Given the description of an element on the screen output the (x, y) to click on. 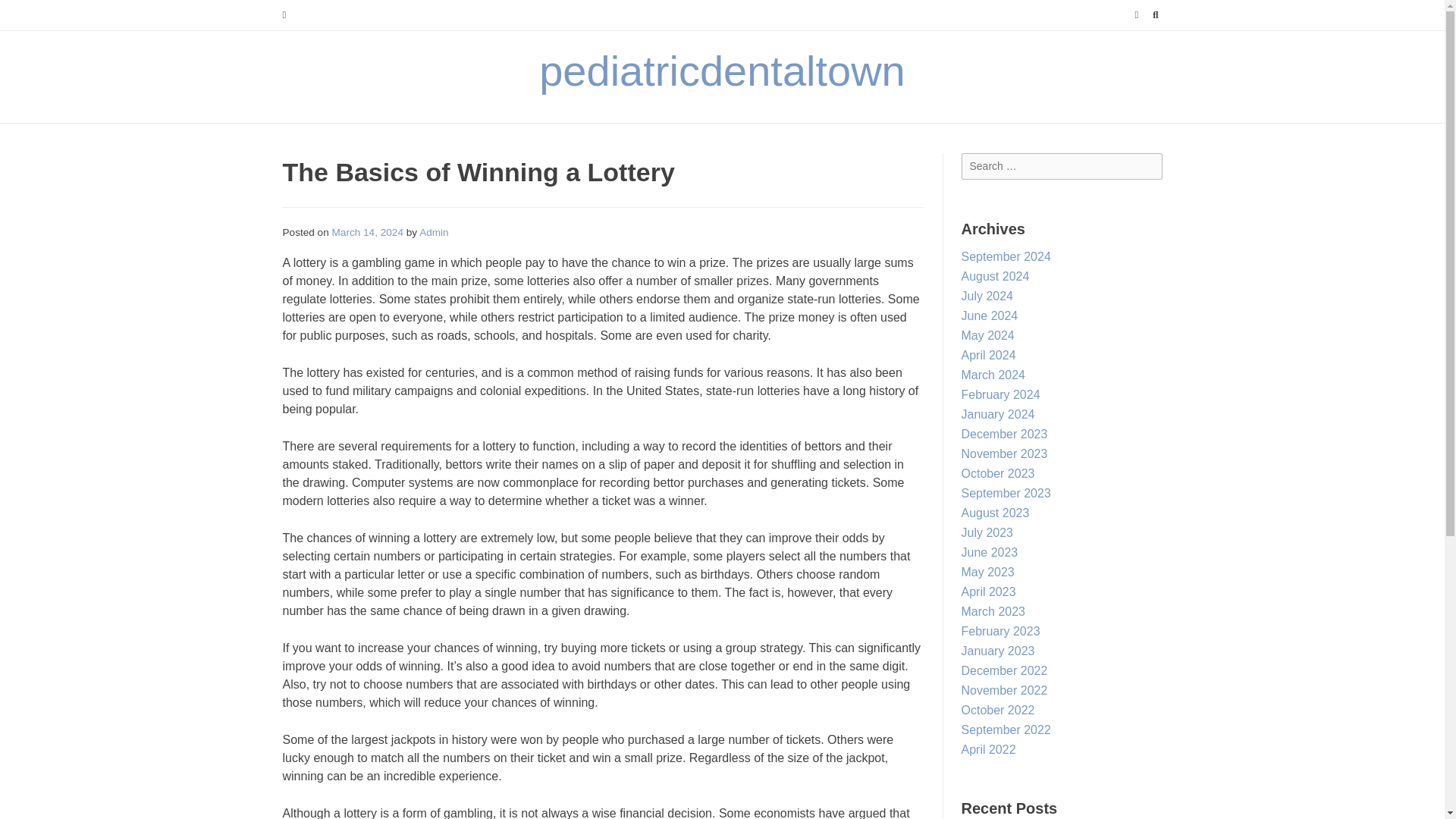
June 2024 (988, 315)
July 2024 (986, 295)
August 2023 (994, 512)
September 2023 (1005, 492)
February 2023 (1000, 631)
May 2023 (987, 571)
October 2023 (997, 472)
October 2022 (997, 709)
April 2023 (988, 591)
December 2023 (1004, 433)
